Given the description of an element on the screen output the (x, y) to click on. 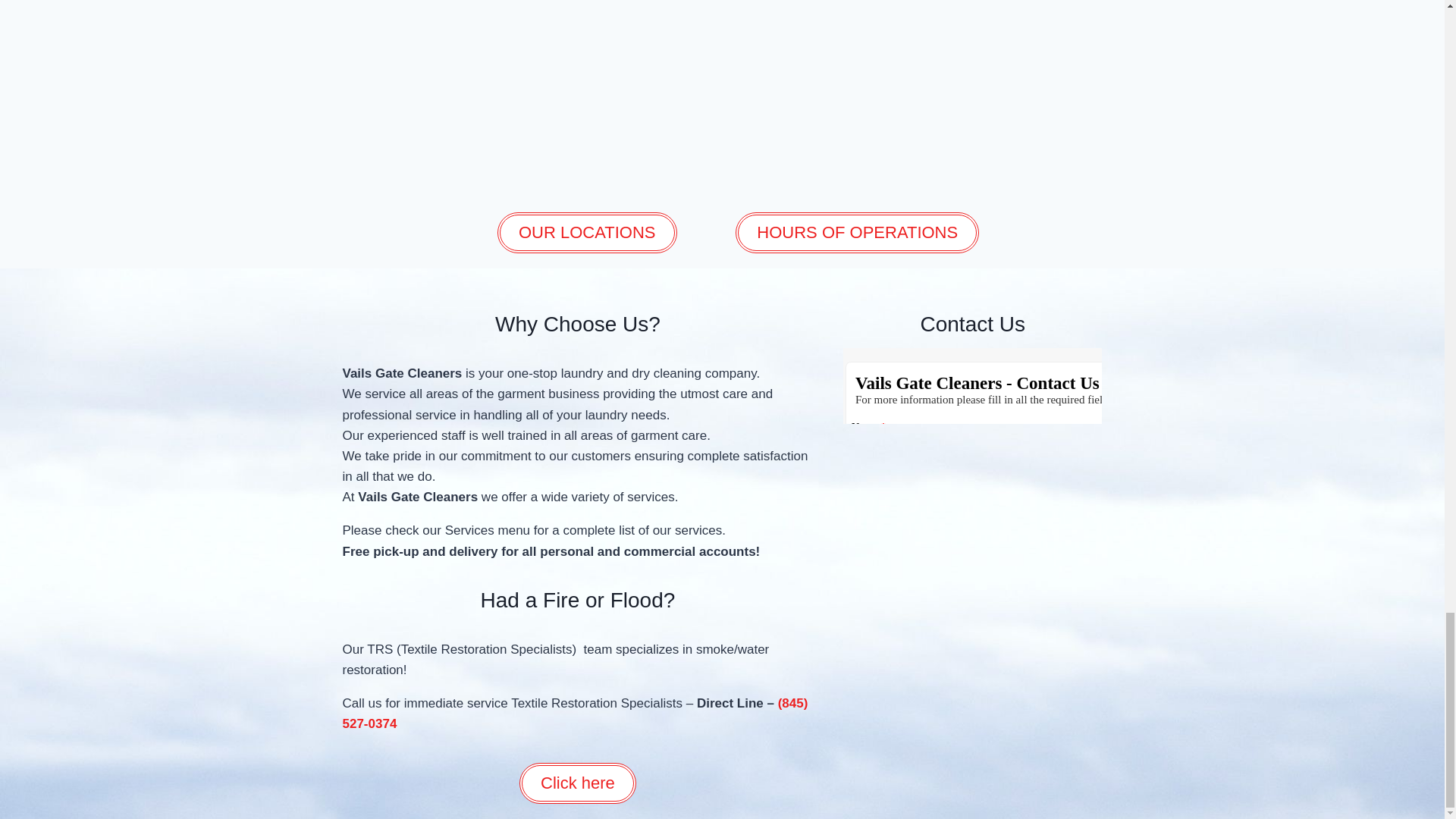
OUR LOCATIONS (587, 232)
HOURS OF OPERATIONS (856, 232)
Click here (577, 782)
